Given the description of an element on the screen output the (x, y) to click on. 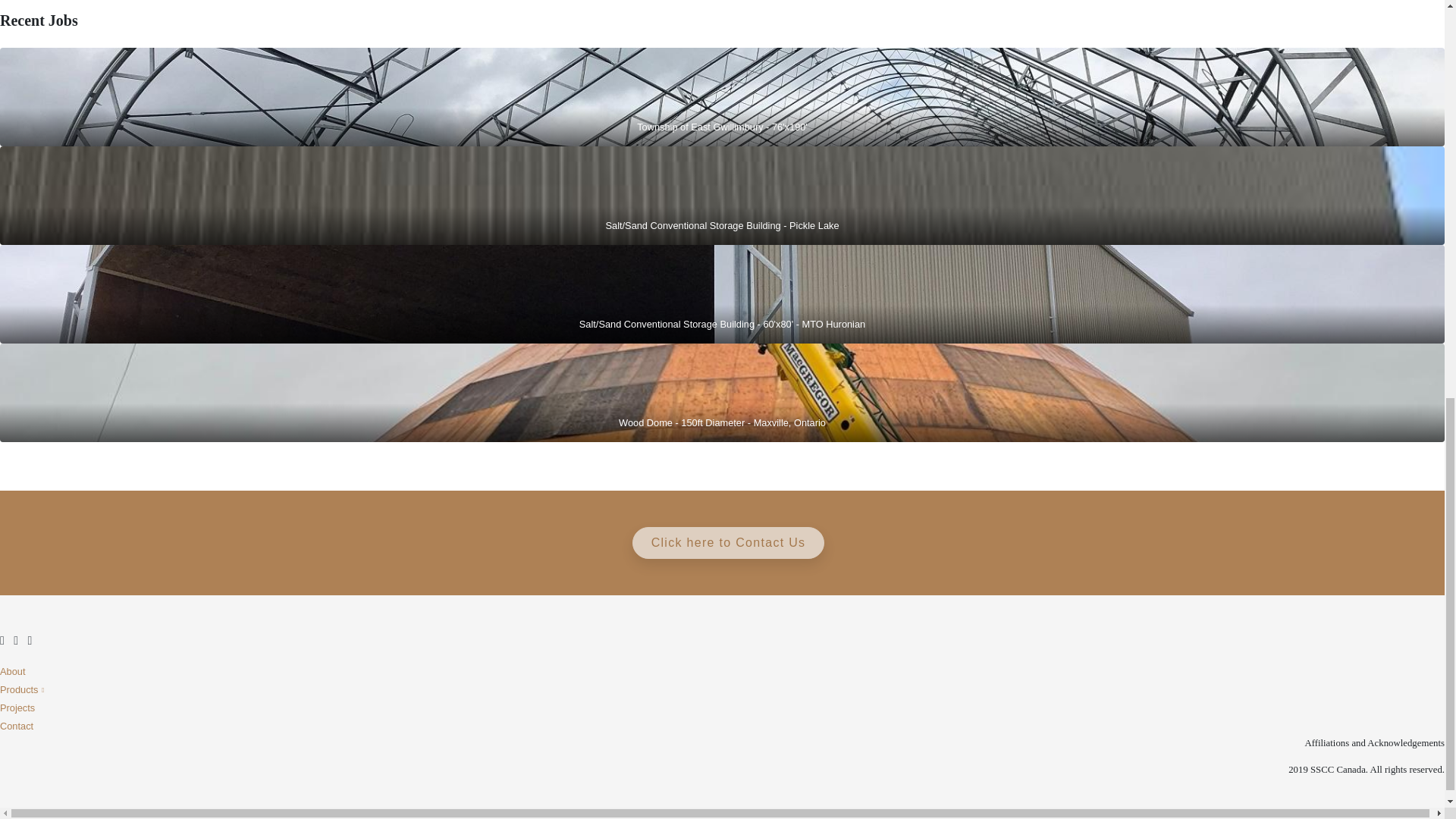
Projects (722, 707)
Contact (722, 725)
Click here to Contact Us (728, 542)
About (722, 670)
Products (722, 689)
